Given the description of an element on the screen output the (x, y) to click on. 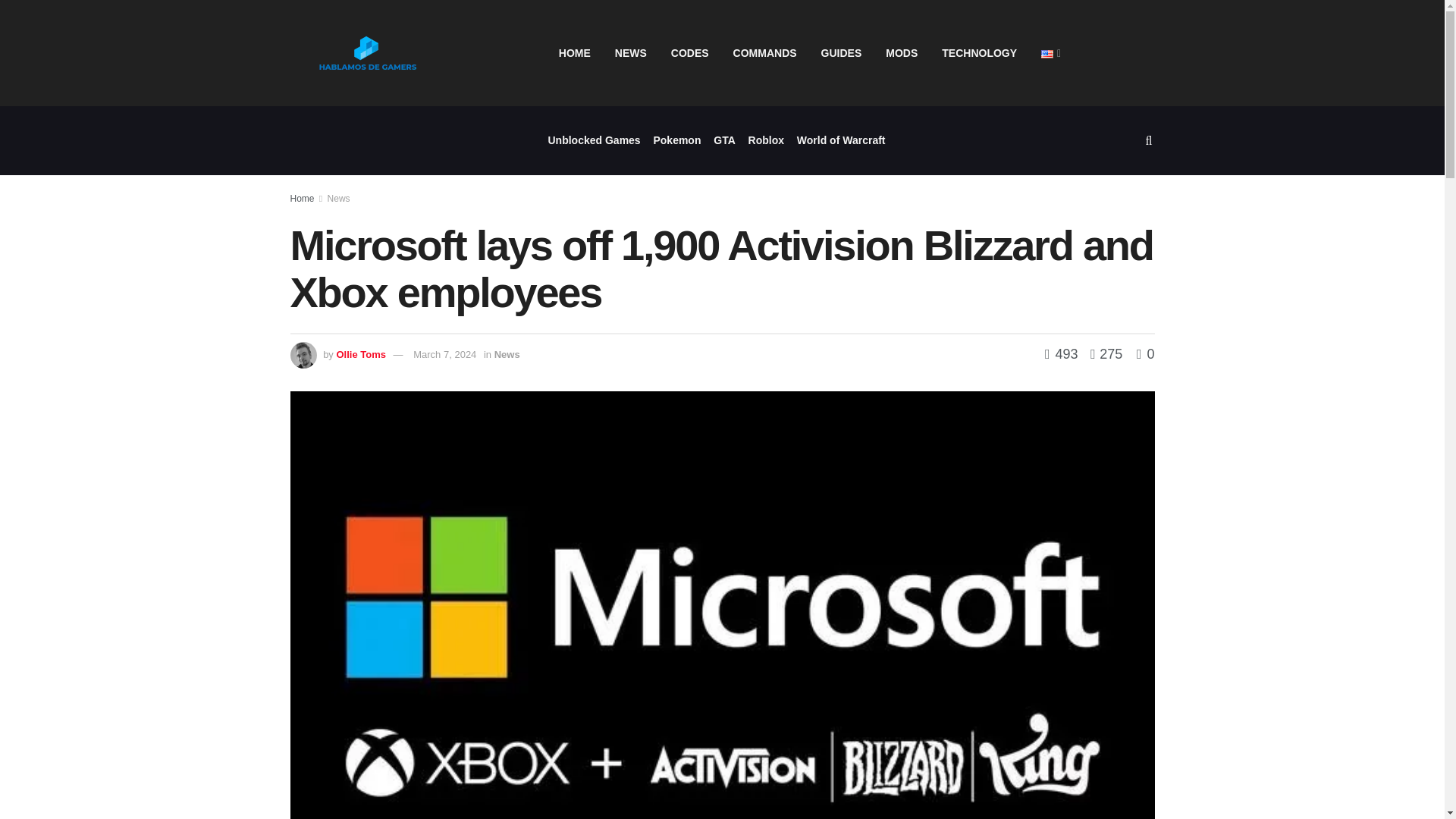
HOME (574, 53)
TECHNOLOGY (979, 53)
News (507, 354)
Home (301, 198)
493 (1063, 353)
COMMANDS (764, 53)
Ollie Toms (360, 354)
World of Warcraft (840, 140)
March 7, 2024 (444, 354)
CODES (689, 53)
